Given the description of an element on the screen output the (x, y) to click on. 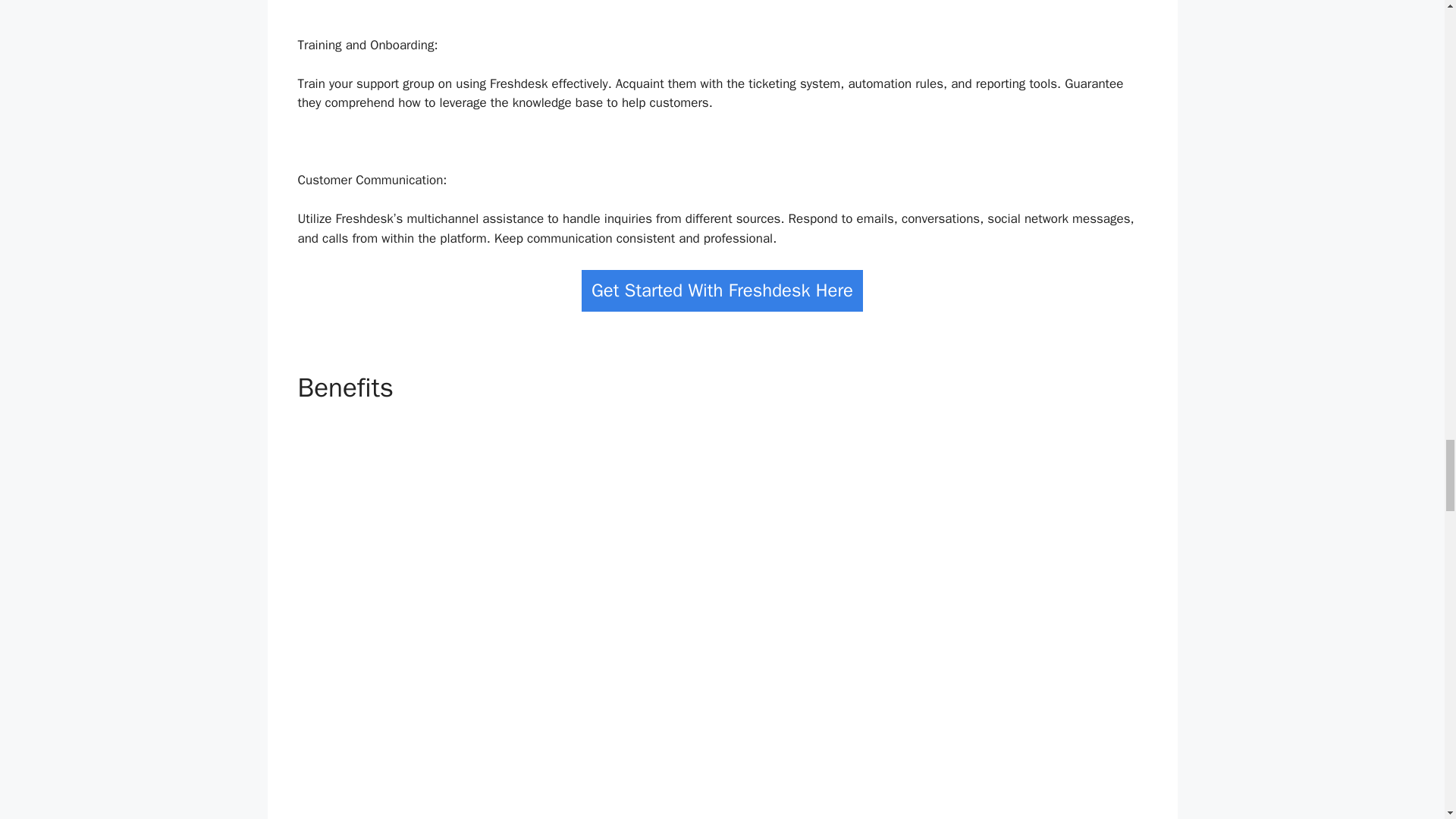
Get Started With Freshdesk Here (721, 291)
